Given the description of an element on the screen output the (x, y) to click on. 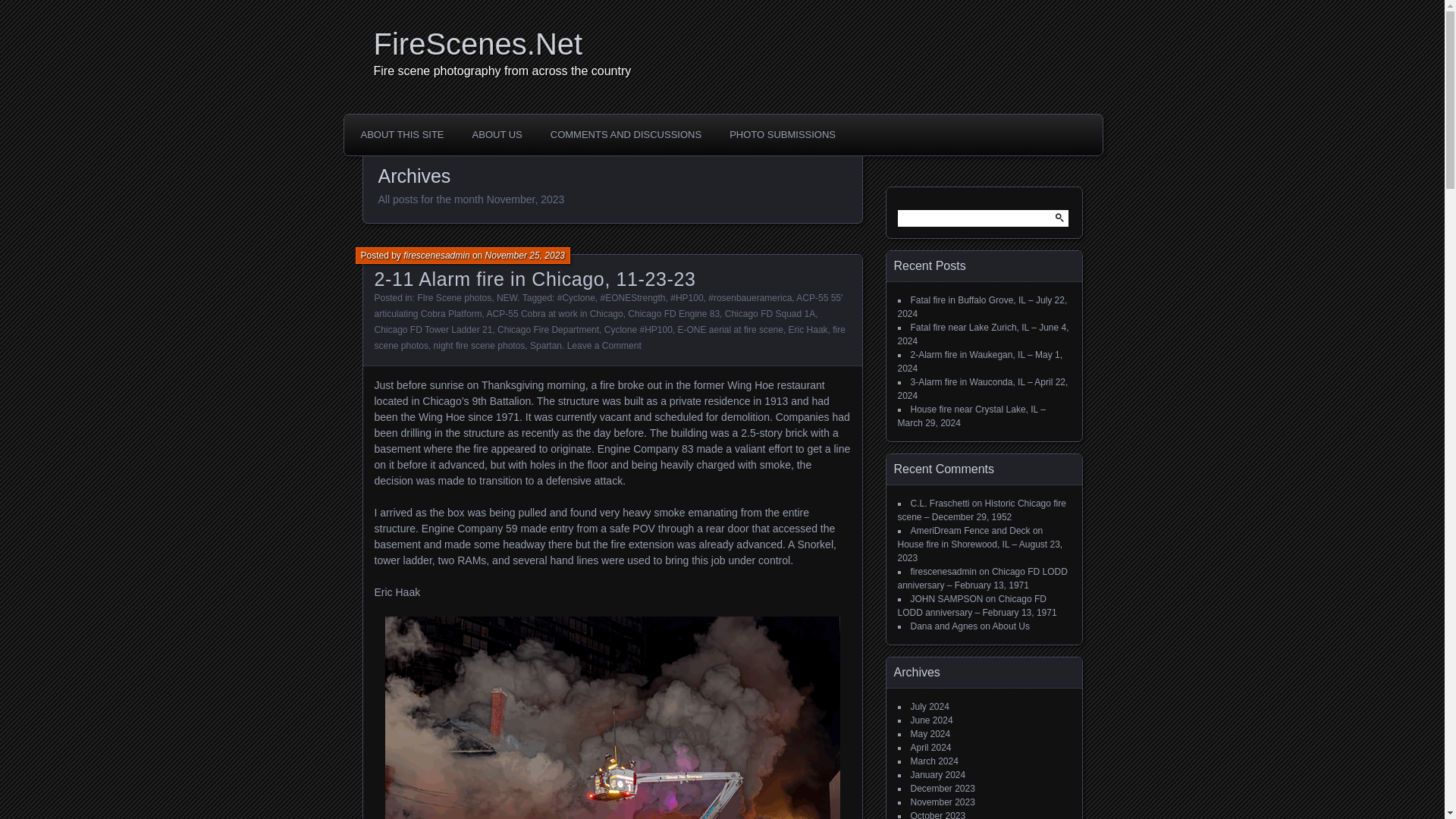
View all posts by firescenesadmin (435, 255)
COMMENTS AND DISCUSSIONS (625, 134)
NEW (506, 297)
firescenesadmin (435, 255)
Chicago FD Squad 1A (770, 313)
Chicago FD Engine 83 (673, 313)
Leave a Comment (604, 345)
FIre Scene photos (454, 297)
ACP-55 Cobra at work in Chicago (554, 313)
night fire scene photos (479, 345)
Chicago Fire Department (547, 329)
E-ONE aerial at fire scene (730, 329)
ABOUT THIS SITE (401, 134)
ABOUT US (497, 134)
ACP-55 55' articulating Cobra Platform (608, 305)
